Given the description of an element on the screen output the (x, y) to click on. 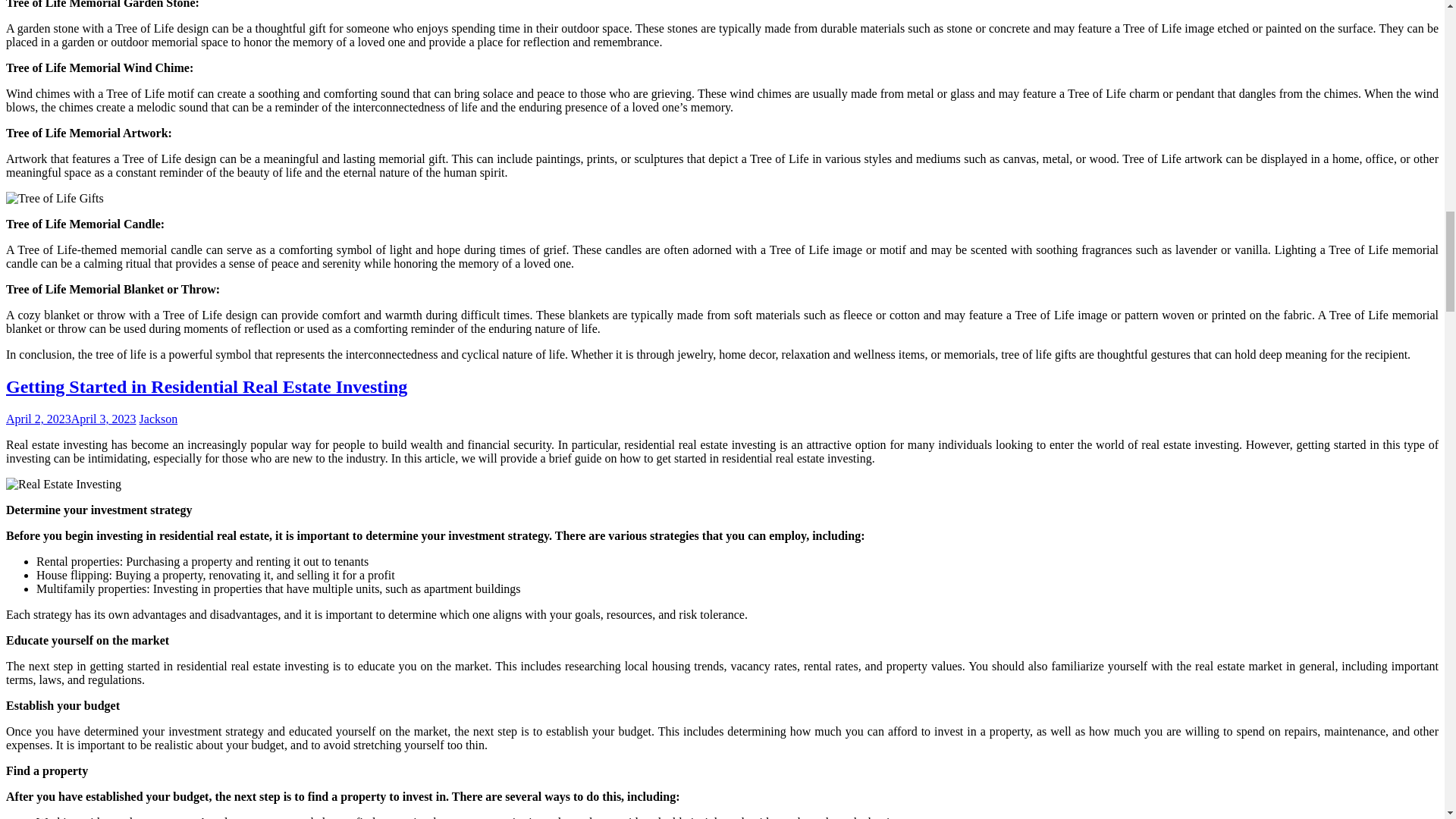
Jackson (158, 418)
Getting Started in Residential Real Estate Investing (206, 386)
April 2, 2023April 3, 2023 (70, 418)
